Given the description of an element on the screen output the (x, y) to click on. 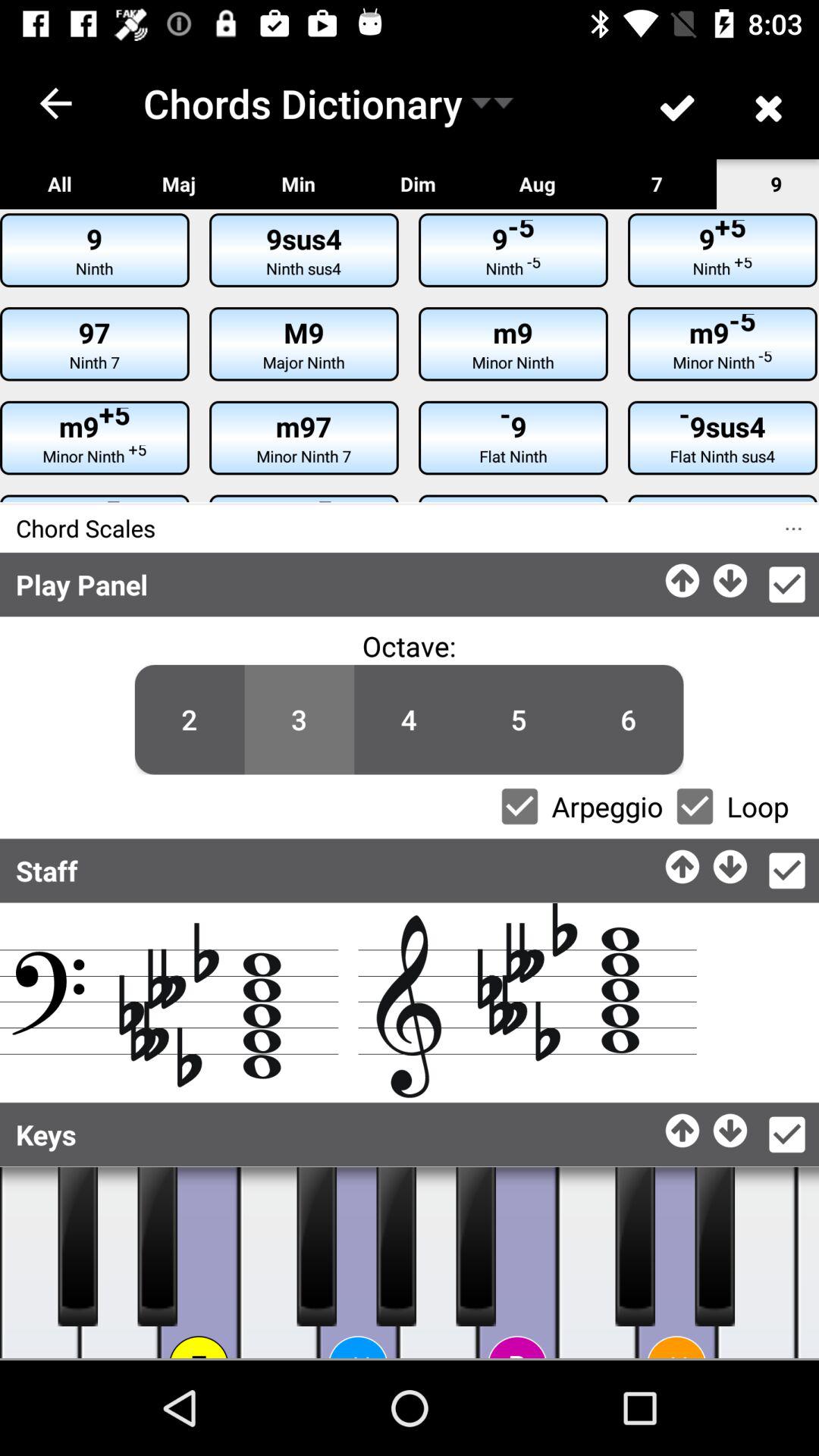
music board key (39, 1262)
